Given the description of an element on the screen output the (x, y) to click on. 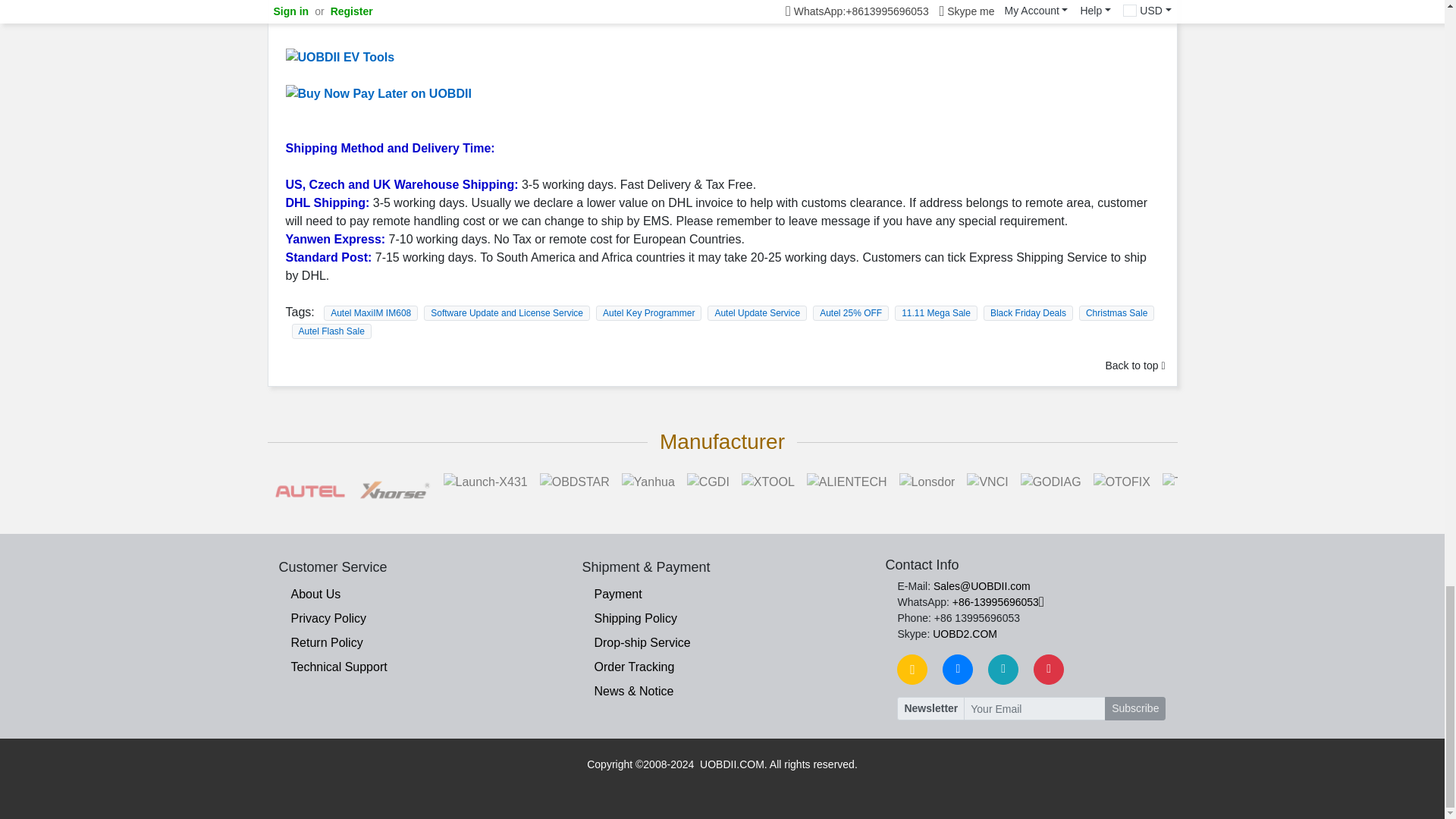
UOBDII Official Blog (911, 669)
YouTube (1048, 669)
Twitter (1002, 669)
Facebook (957, 669)
